Given the description of an element on the screen output the (x, y) to click on. 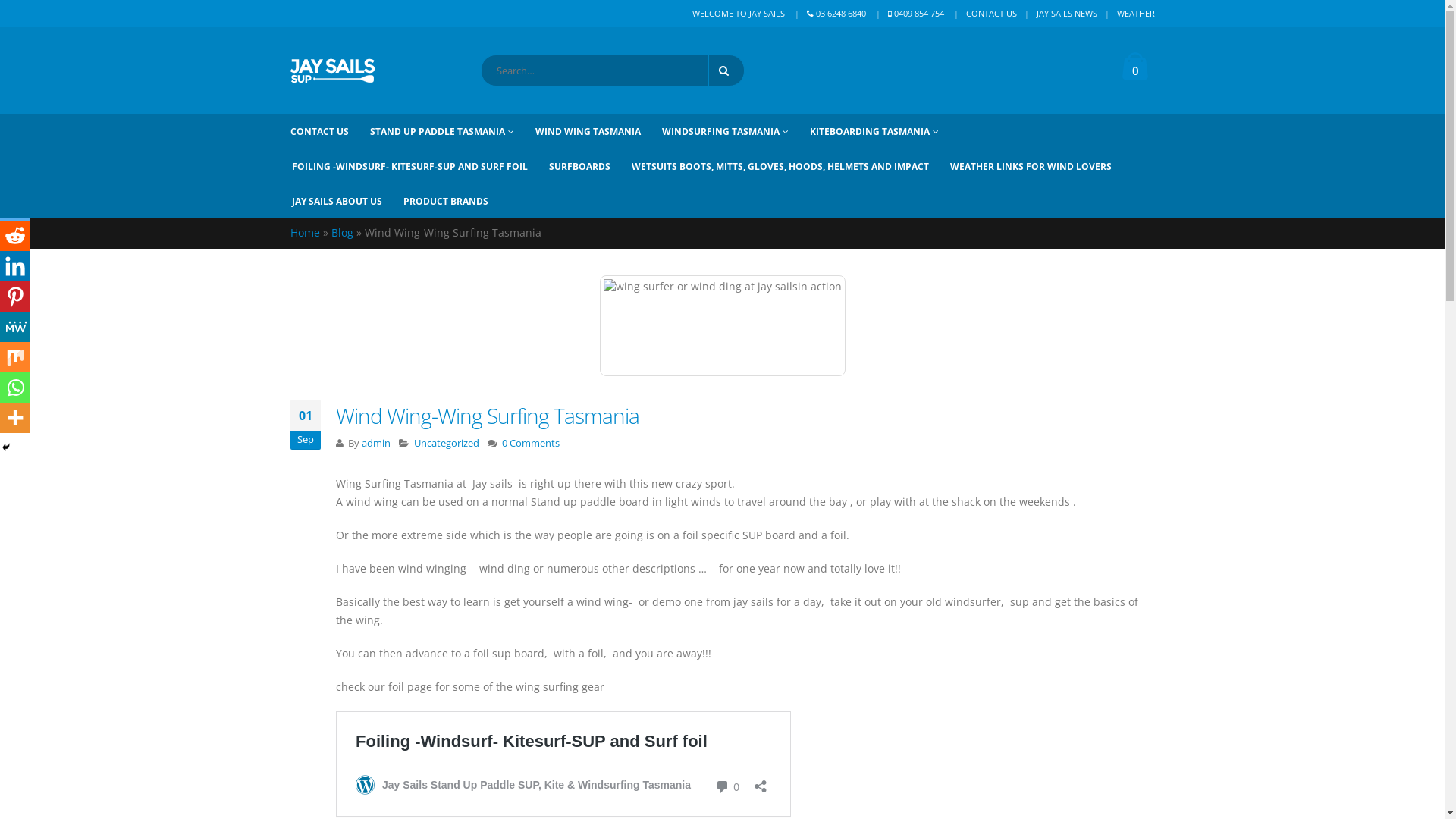
WINDSURFING TASMANIA Element type: text (734, 130)
SURFBOARDS Element type: text (589, 165)
admin Element type: text (374, 442)
KITEBOARDING TASMANIA Element type: text (883, 130)
WEATHER Element type: text (1135, 12)
CONTACT US Element type: text (991, 12)
Facebook Element type: hover (15, 175)
CONTACT US Element type: text (328, 130)
STAND UP PADDLE TASMANIA Element type: text (451, 130)
Whatsapp Element type: hover (15, 387)
JAY SAILS NEWS Element type: text (1065, 12)
WEATHER LINKS FOR WIND LOVERS Element type: text (1039, 165)
Reddit Element type: hover (15, 235)
Uncategorized Element type: text (446, 442)
WETSUITS BOOTS, MITTS, GLOVES, HOODS, HELMETS AND IMPACT Element type: text (788, 165)
Blog Element type: text (341, 232)
PRODUCT BRANDS Element type: text (455, 200)
More Element type: hover (15, 417)
JAY SAILS ABOUT US Element type: text (346, 200)
Home Element type: text (304, 232)
Hide Element type: hover (6, 447)
Mix Element type: hover (15, 357)
Twitter Element type: hover (15, 205)
0 Comments Element type: text (530, 442)
Pinterest Element type: hover (15, 296)
FOILING -WINDSURF- KITESURF-SUP AND SURF FOIL Element type: text (418, 165)
Search Element type: hover (726, 70)
WIND WING TASMANIA Element type: text (597, 130)
Linkedin Element type: hover (15, 266)
MeWe Element type: hover (15, 326)
